Given the description of an element on the screen output the (x, y) to click on. 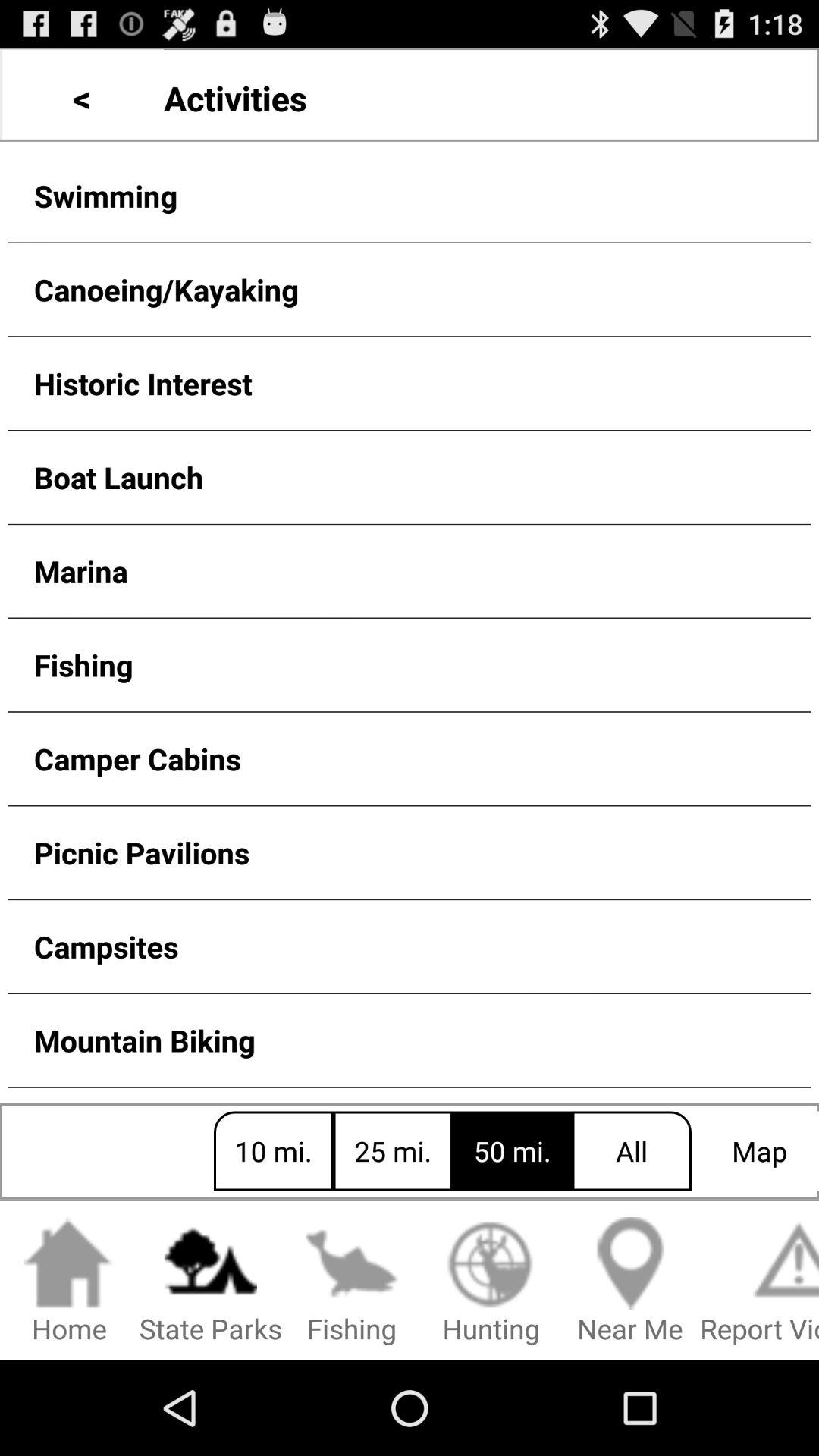
turn off the icon below the 10 mi. button (210, 1282)
